Given the description of an element on the screen output the (x, y) to click on. 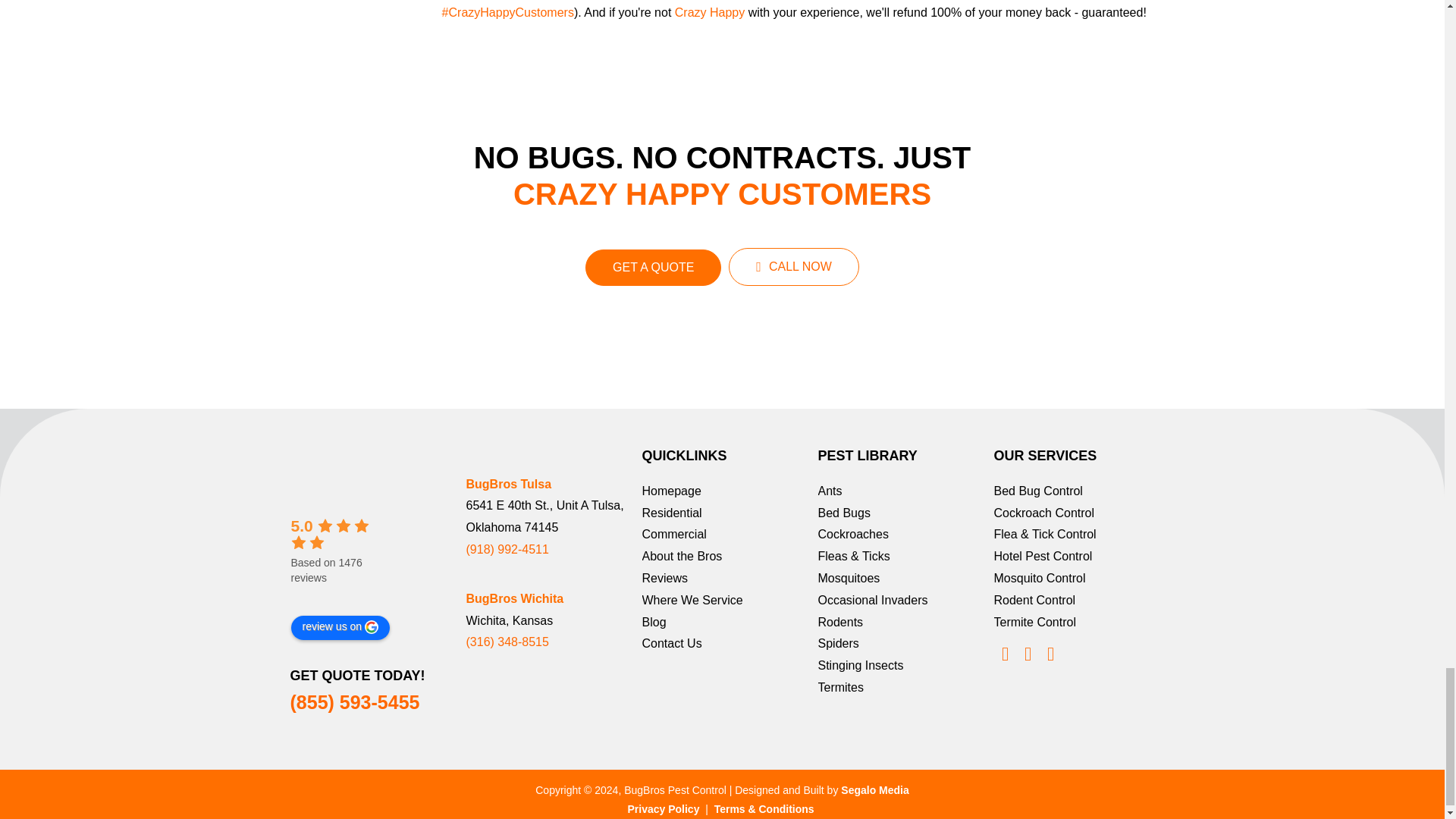
CALL NOW (794, 266)
GET A QUOTE (652, 267)
Homepage (671, 491)
Residential (671, 513)
CRAZY HAPPY CUSTOMERS (721, 212)
Commercial (674, 535)
powered by Google (340, 595)
review us on (340, 627)
